Given the description of an element on the screen output the (x, y) to click on. 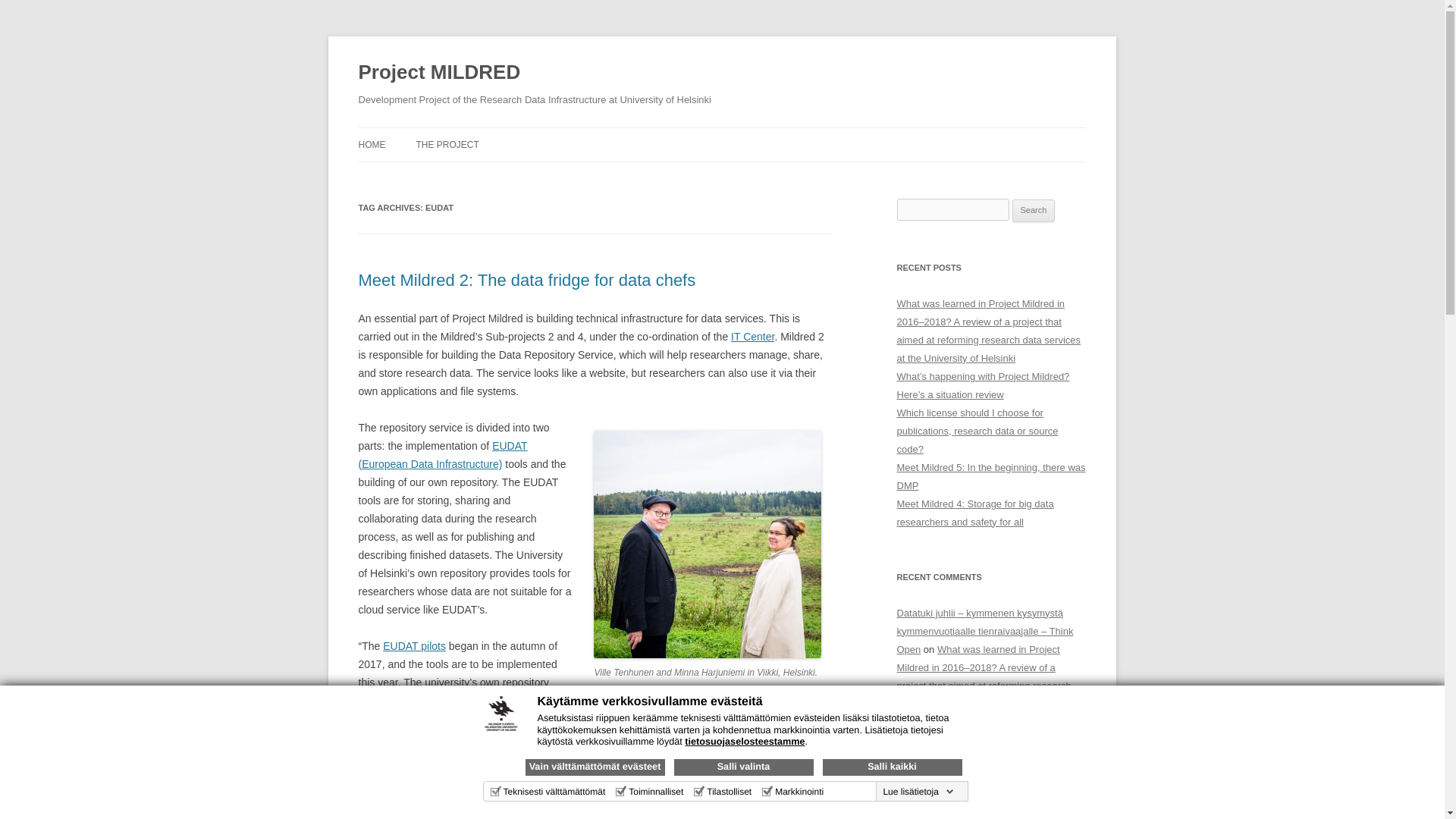
Salli valinta (742, 767)
tietosuojaselosteestamme (744, 741)
Salli kaikki (891, 767)
Search (1033, 210)
